Given the description of an element on the screen output the (x, y) to click on. 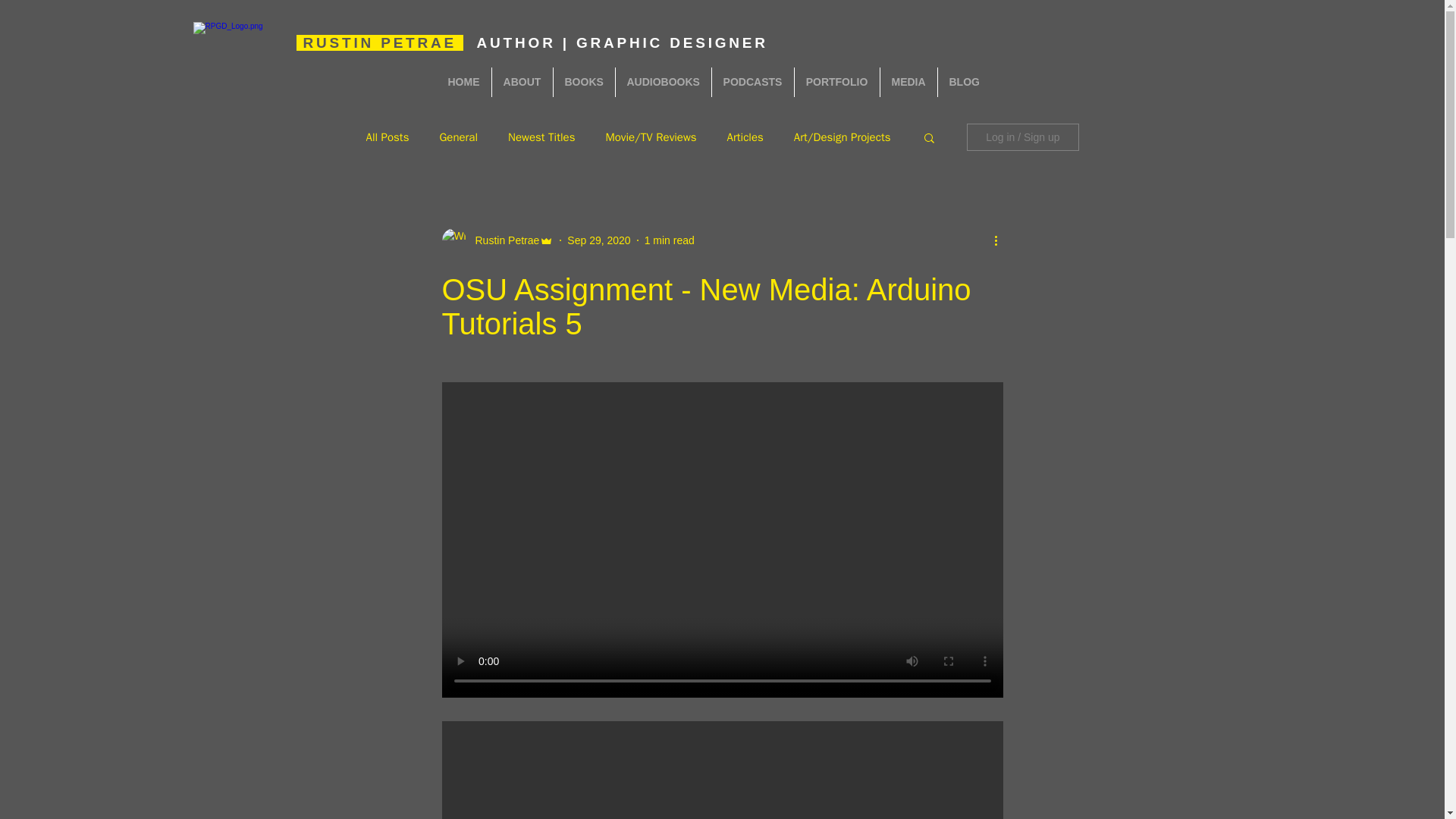
AUDIOBOOKS (663, 82)
BOOKS (583, 82)
Rustin Petrae (501, 239)
HOME (464, 82)
BLOG (963, 82)
PODCASTS (752, 82)
ABOUT (521, 82)
Newest Titles (541, 137)
Articles (744, 137)
All Posts (387, 137)
1 min read (669, 239)
PORTFOLIO (836, 82)
MEDIA (907, 82)
Sep 29, 2020 (598, 239)
General (458, 137)
